Given the description of an element on the screen output the (x, y) to click on. 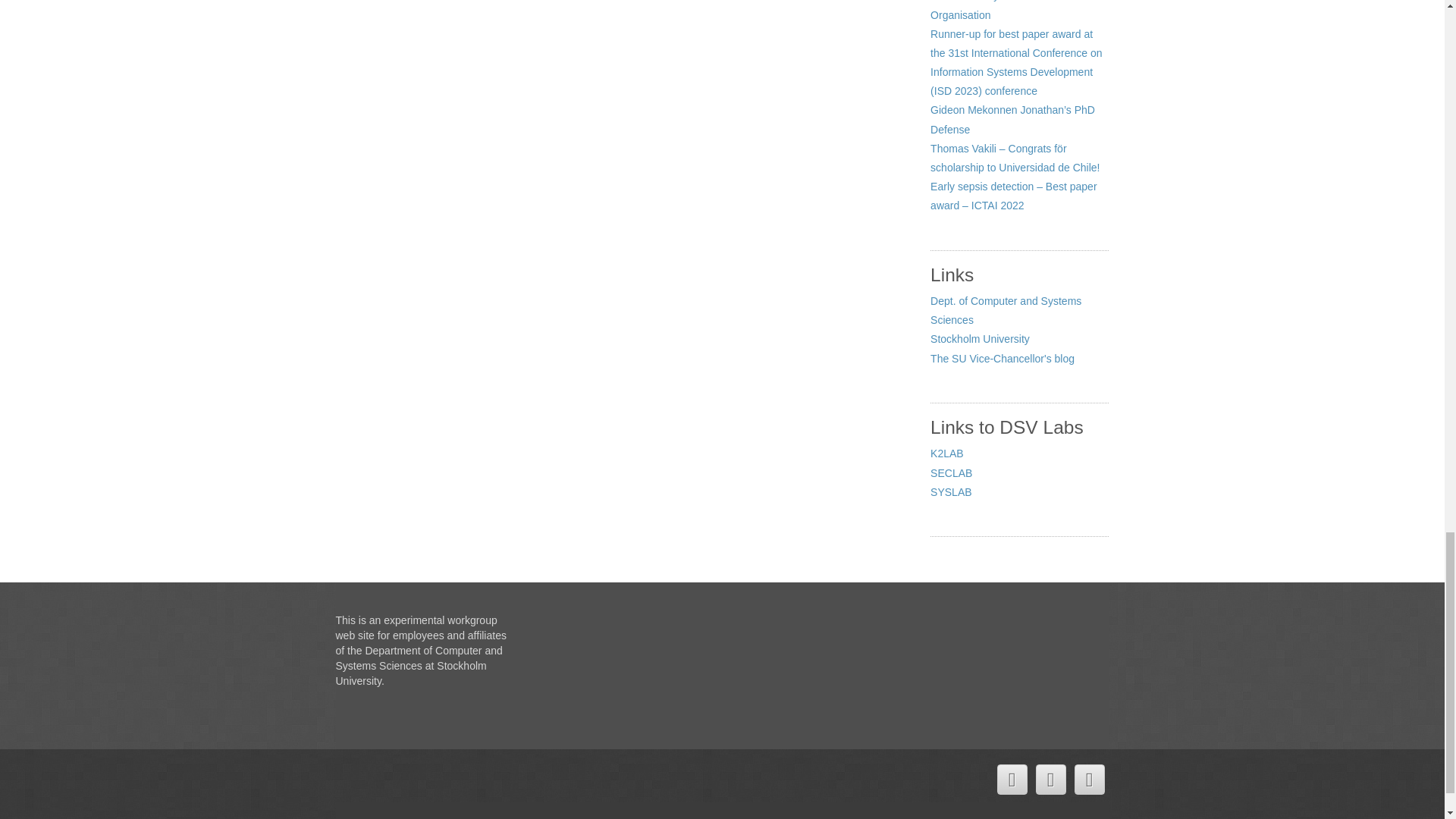
DASH Twitter (1010, 779)
DASH Googleplus (1088, 779)
DASH Facebook (1050, 779)
